Given the description of an element on the screen output the (x, y) to click on. 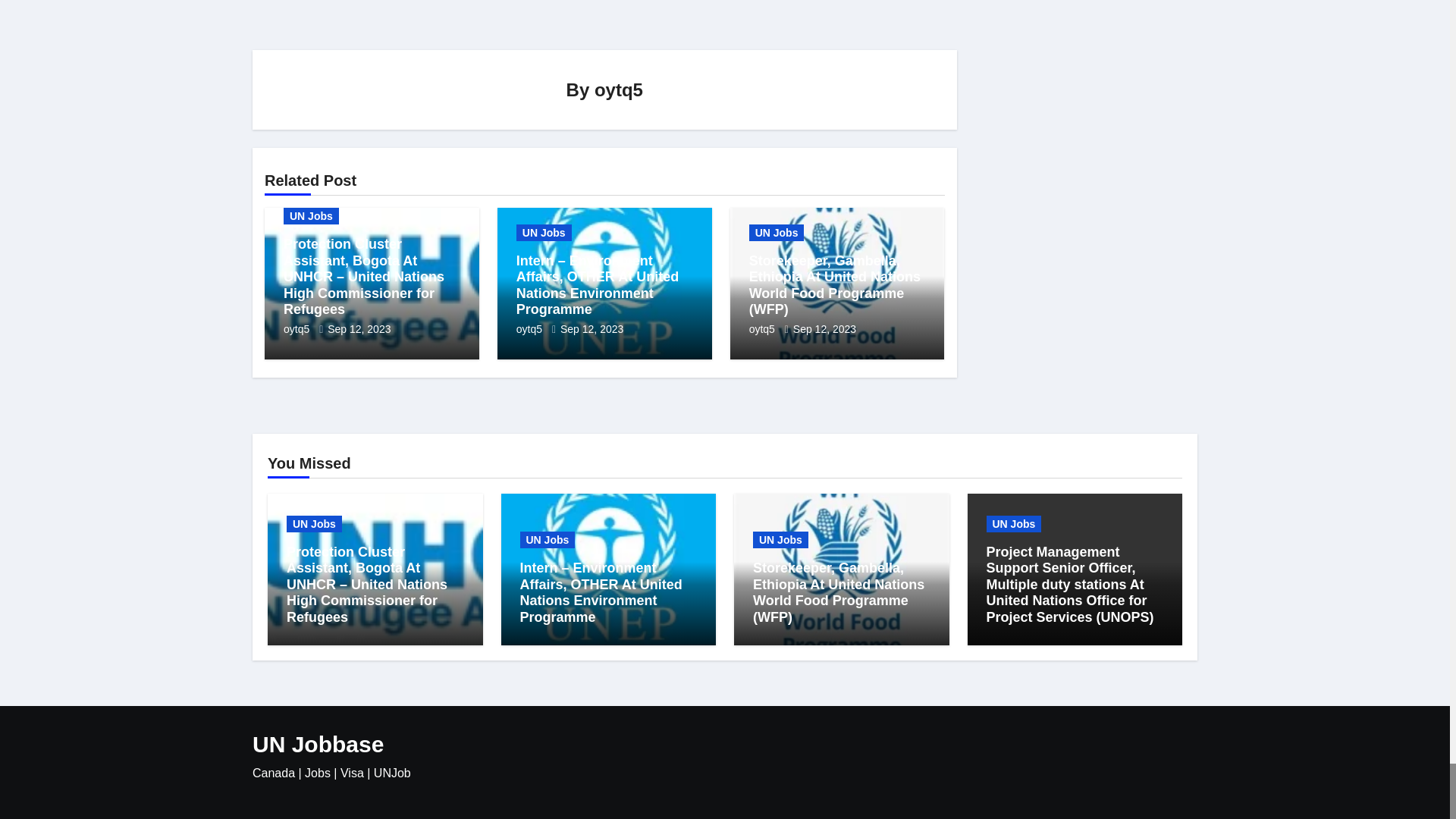
UN Jobs (544, 232)
oytq5 (530, 328)
UN Jobs (311, 216)
Sep 12, 2023 (358, 328)
UN Jobs (777, 232)
oytq5 (298, 328)
Sep 12, 2023 (591, 328)
oytq5 (618, 88)
